Given the description of an element on the screen output the (x, y) to click on. 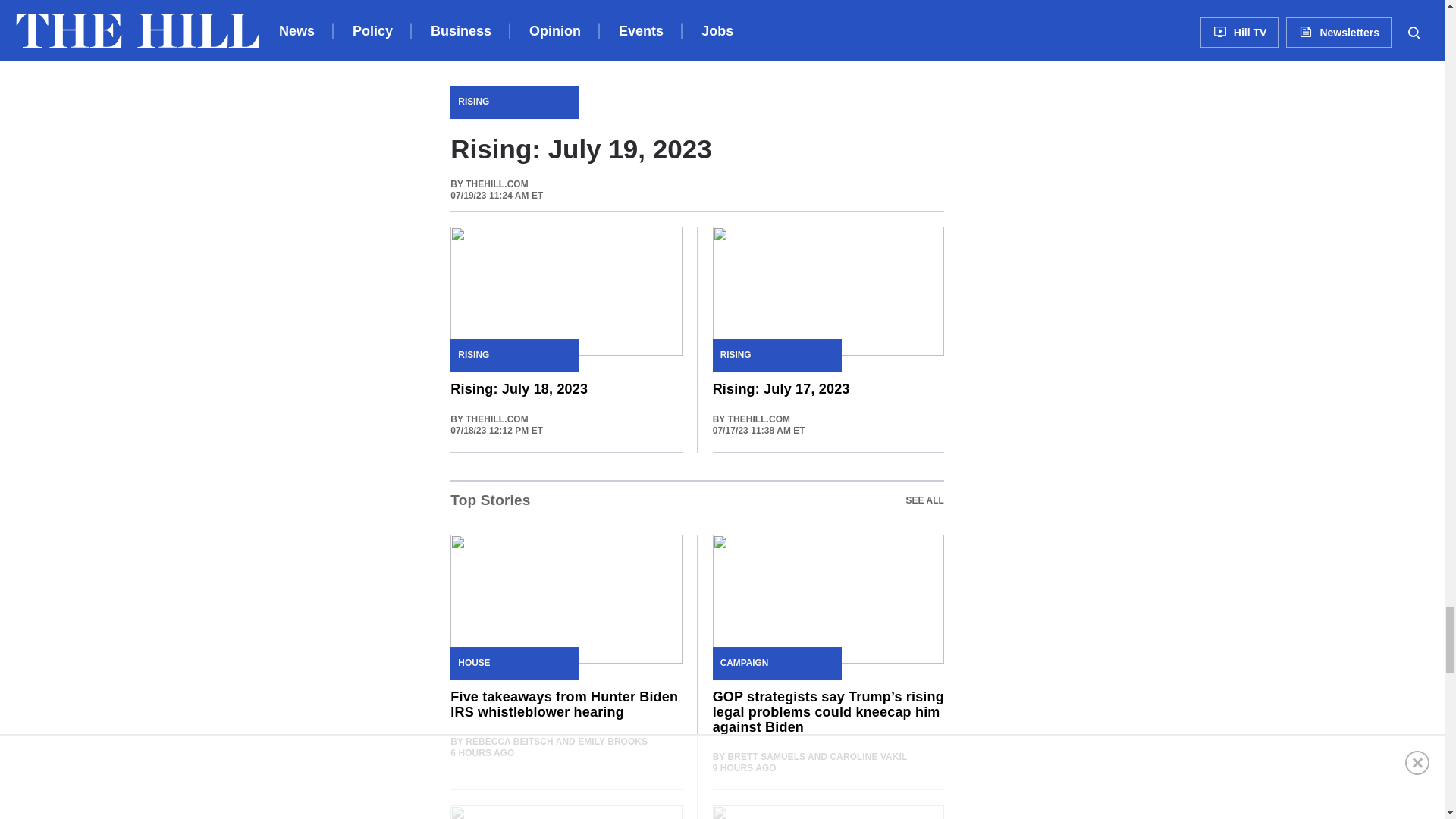
SEE ALL (696, 499)
SEE ALL (924, 499)
Top Stories (924, 499)
